Given the description of an element on the screen output the (x, y) to click on. 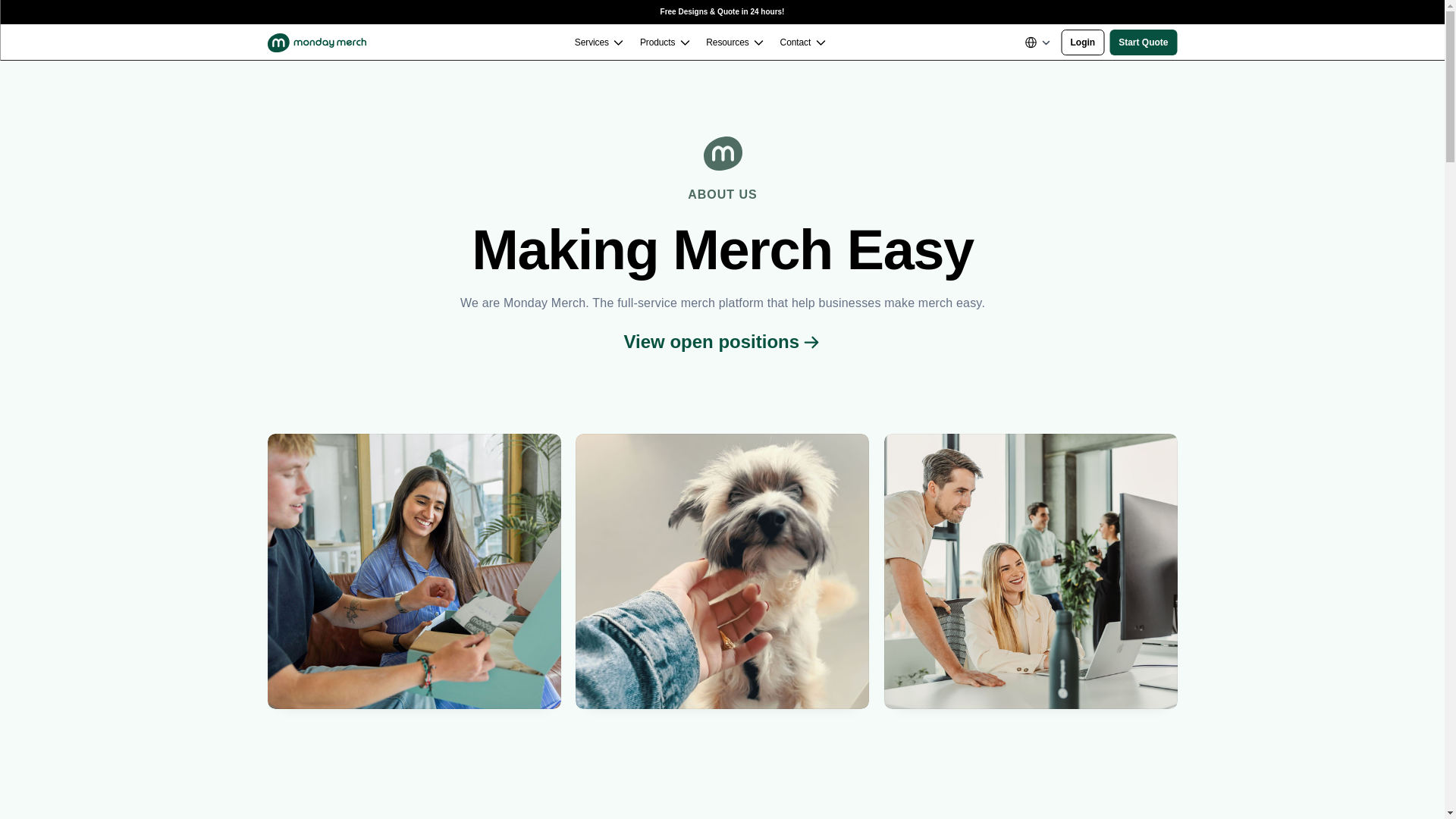
View open positions (722, 341)
Start Quote (1142, 42)
Login (1083, 42)
